Given the description of an element on the screen output the (x, y) to click on. 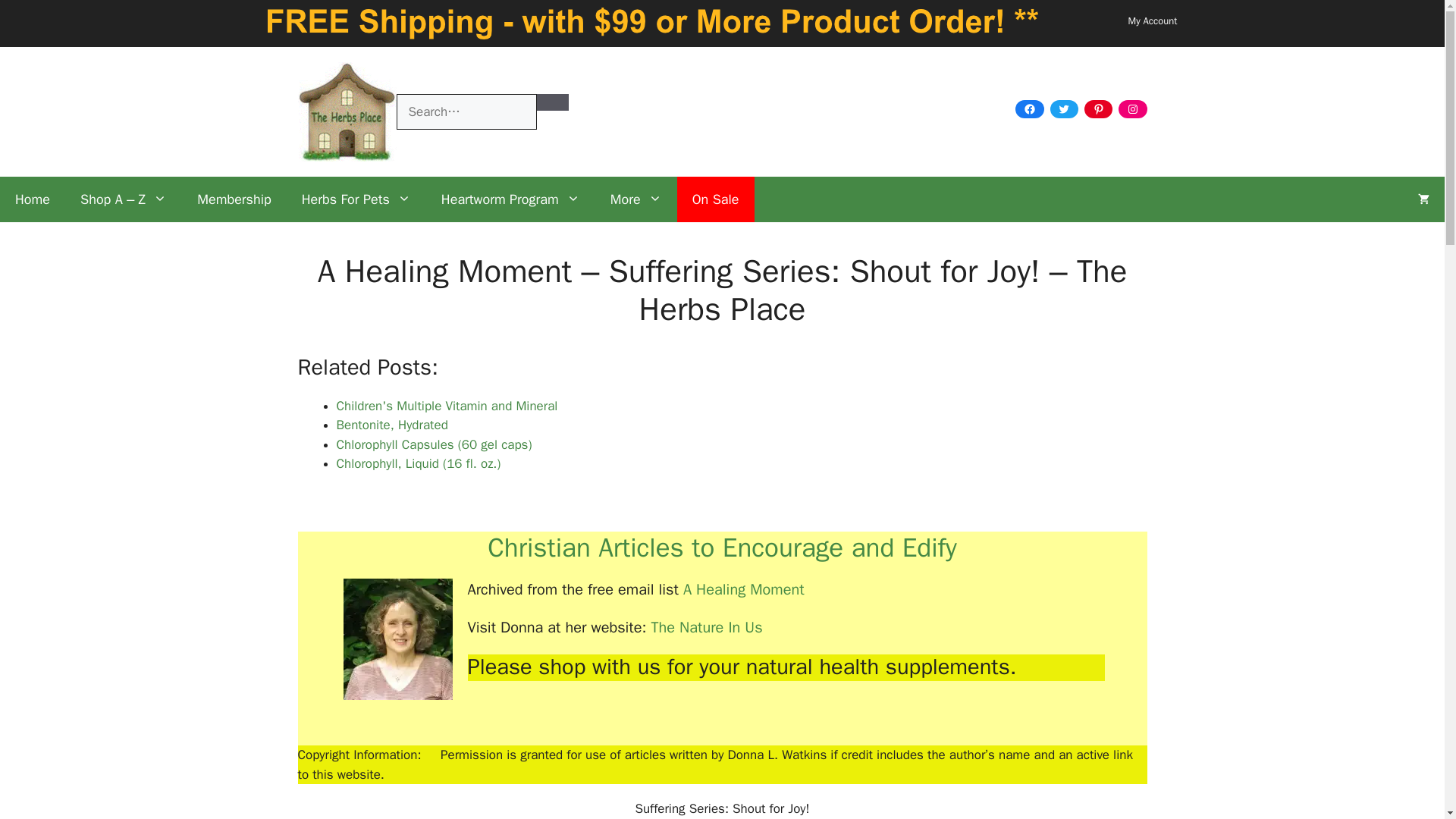
fshipping-webp-10 (651, 23)
My Account (1152, 20)
Instagram (1132, 108)
Twitter (1063, 108)
Search (553, 102)
Membership (233, 198)
Pinterest (1098, 108)
Herbs For Pets (356, 198)
Home (32, 198)
Facebook (1028, 108)
